Given the description of an element on the screen output the (x, y) to click on. 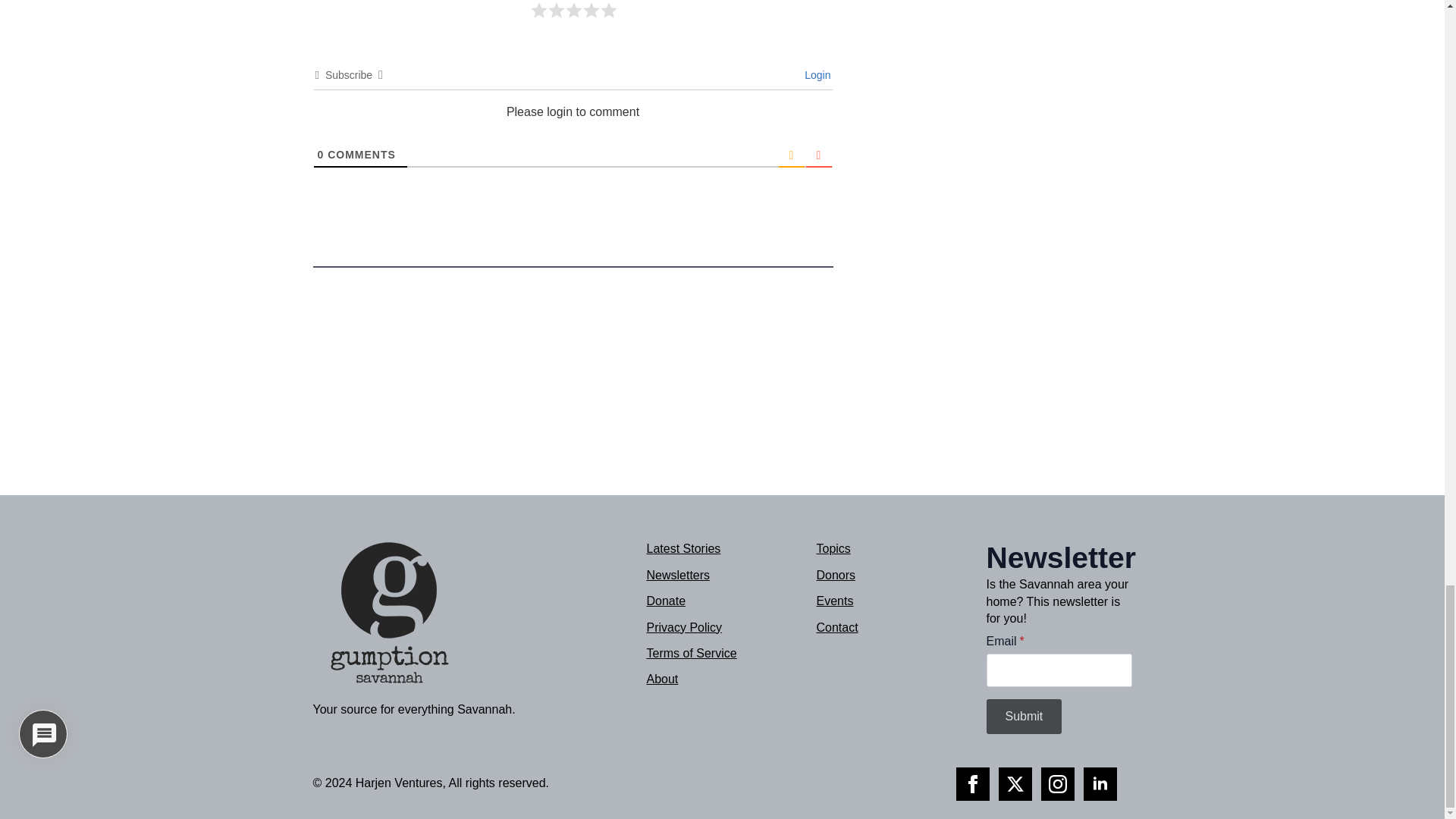
Login (814, 74)
0 (320, 154)
